Given the description of an element on the screen output the (x, y) to click on. 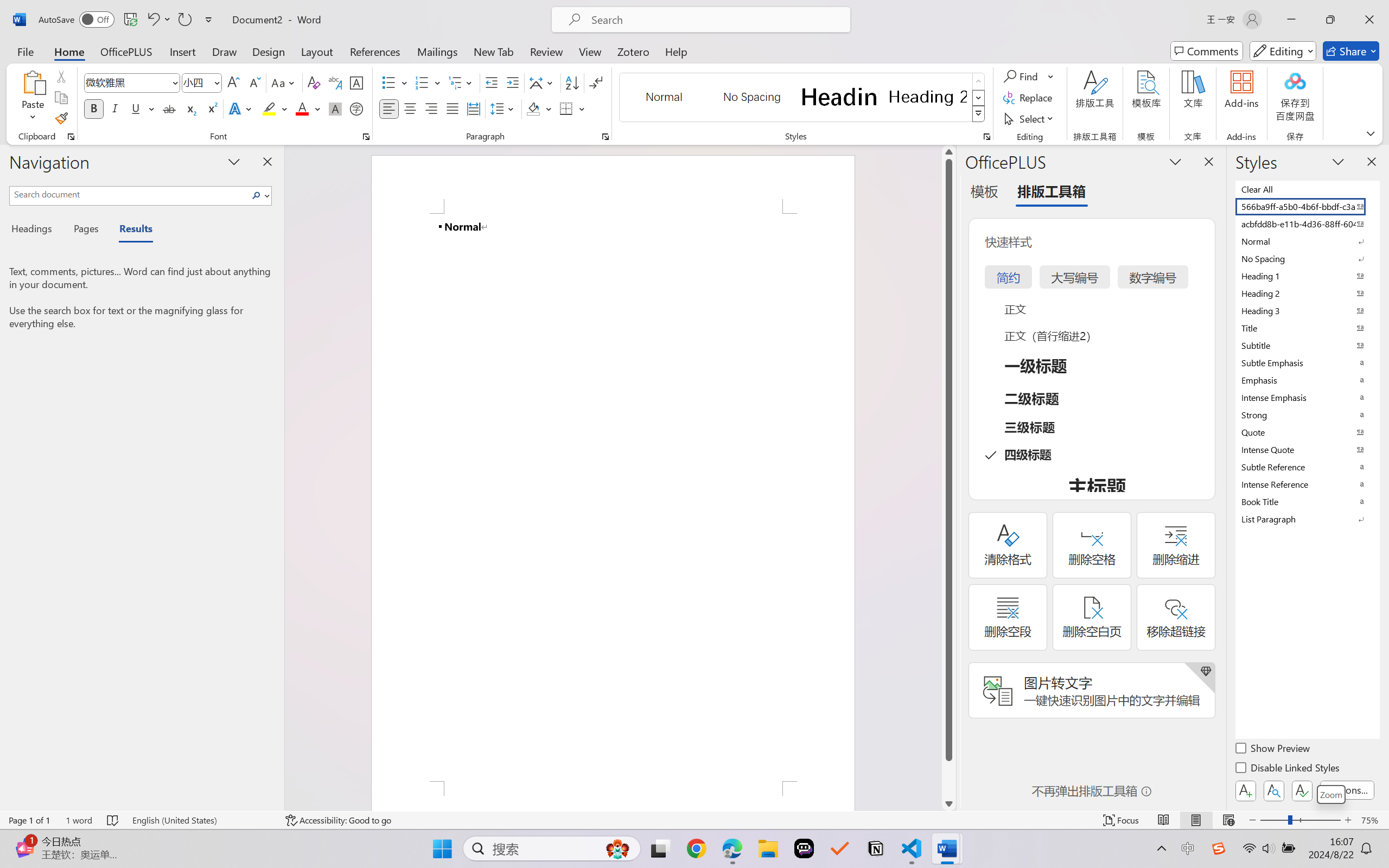
Zoom (1330, 793)
Search (256, 195)
Phonetic Guide... (334, 82)
Close (1369, 19)
Bullets (388, 82)
Paste (33, 81)
Layout (316, 51)
Print Layout (1196, 819)
Subscript (190, 108)
Minimize (1291, 19)
